Given the description of an element on the screen output the (x, y) to click on. 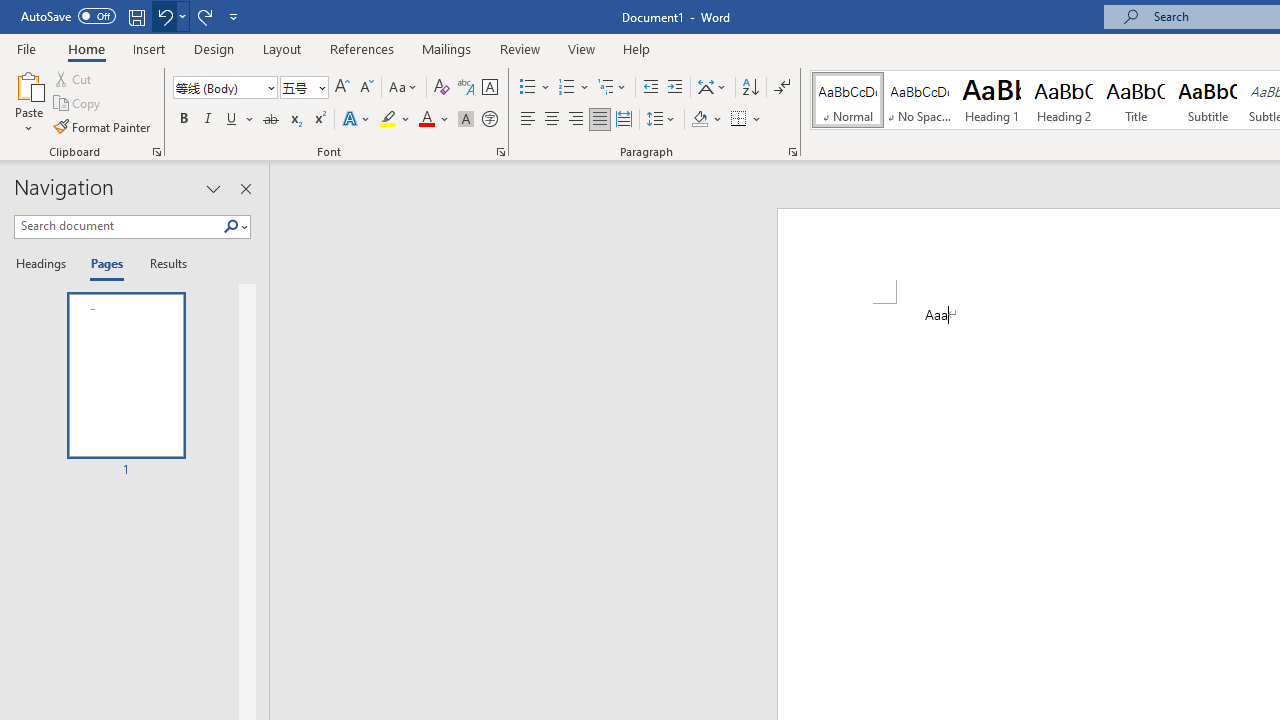
Open (320, 87)
Italic (207, 119)
Asian Layout (712, 87)
Copy (78, 103)
Subscript (294, 119)
Office Clipboard... (156, 151)
Text Highlight Color Yellow (388, 119)
Shading RGB(0, 0, 0) (699, 119)
Clear Formatting (442, 87)
Bold (183, 119)
Line and Paragraph Spacing (661, 119)
Shading (706, 119)
